Given the description of an element on the screen output the (x, y) to click on. 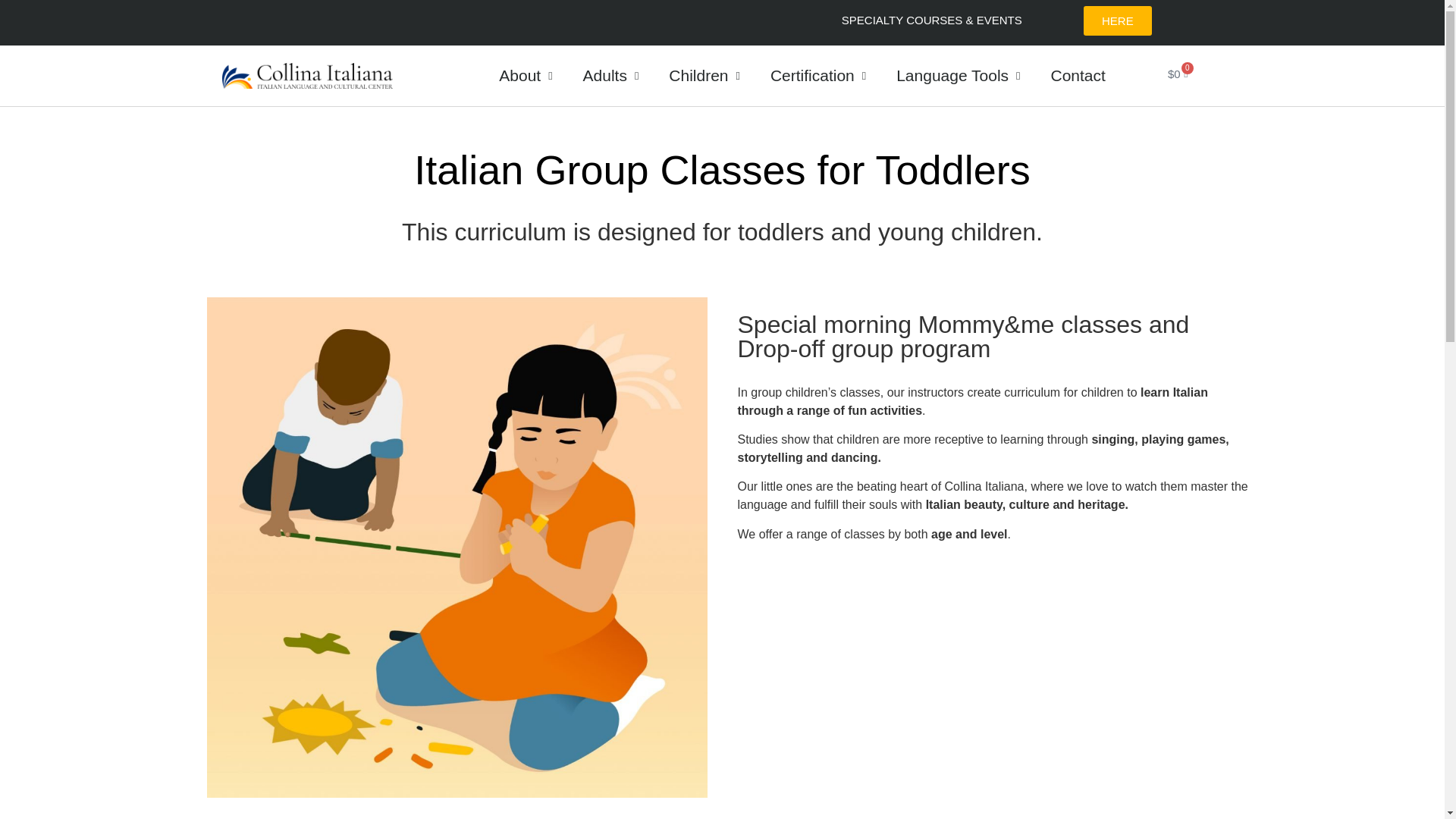
About (525, 75)
Adults (610, 75)
Contact (1077, 75)
Language Tools (957, 75)
Certification (817, 75)
Children (704, 75)
HERE (1117, 20)
